Given the description of an element on the screen output the (x, y) to click on. 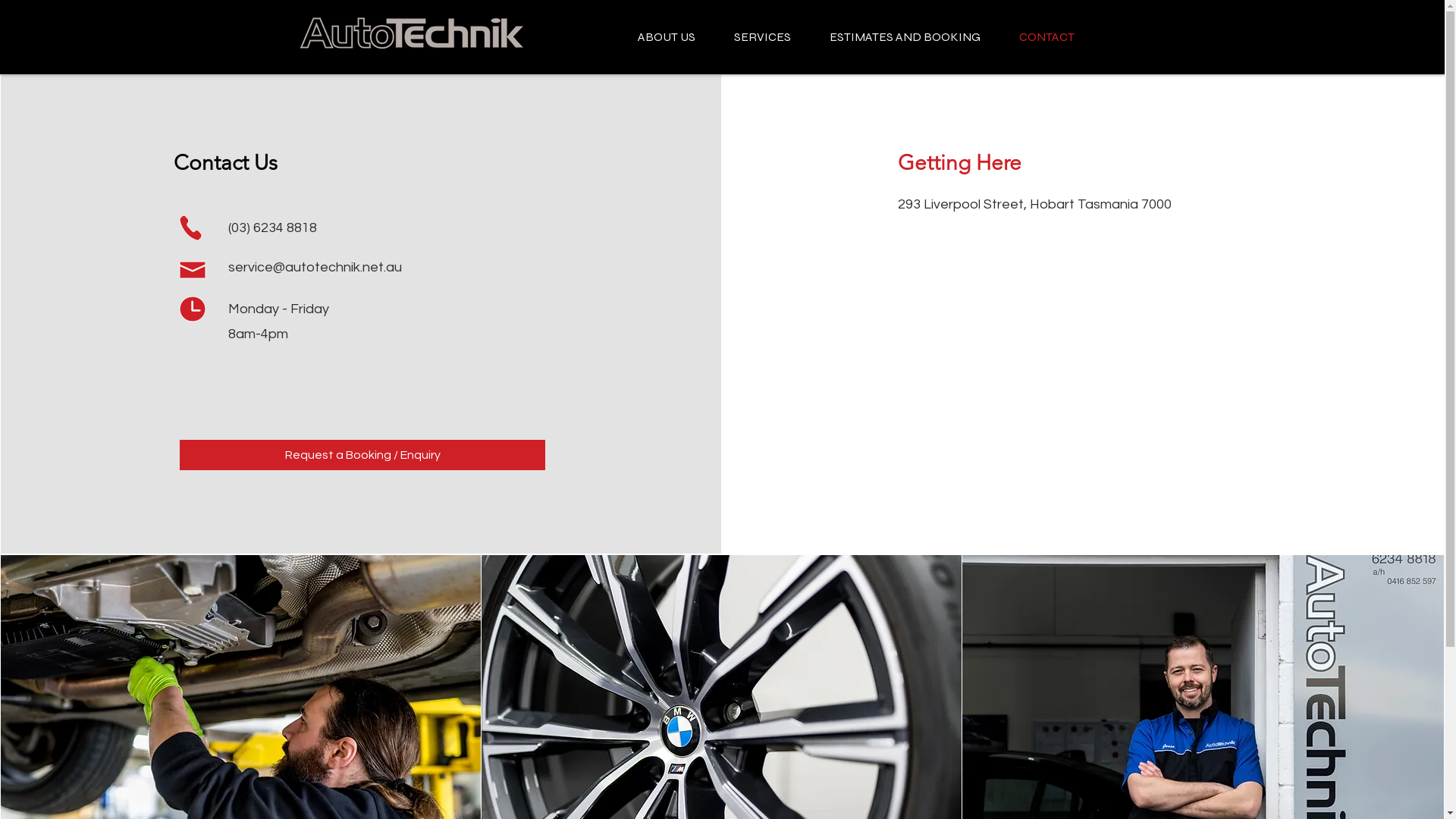
SERVICES Element type: text (761, 37)
ESTIMATES AND BOOKING Element type: text (904, 37)
service@autotechnik.net.au Element type: text (314, 267)
CONTACT Element type: text (1046, 37)
ABOUT US Element type: text (666, 37)
Google Maps Element type: hover (1083, 336)
Request a Booking / Enquiry Element type: text (362, 454)
